Given the description of an element on the screen output the (x, y) to click on. 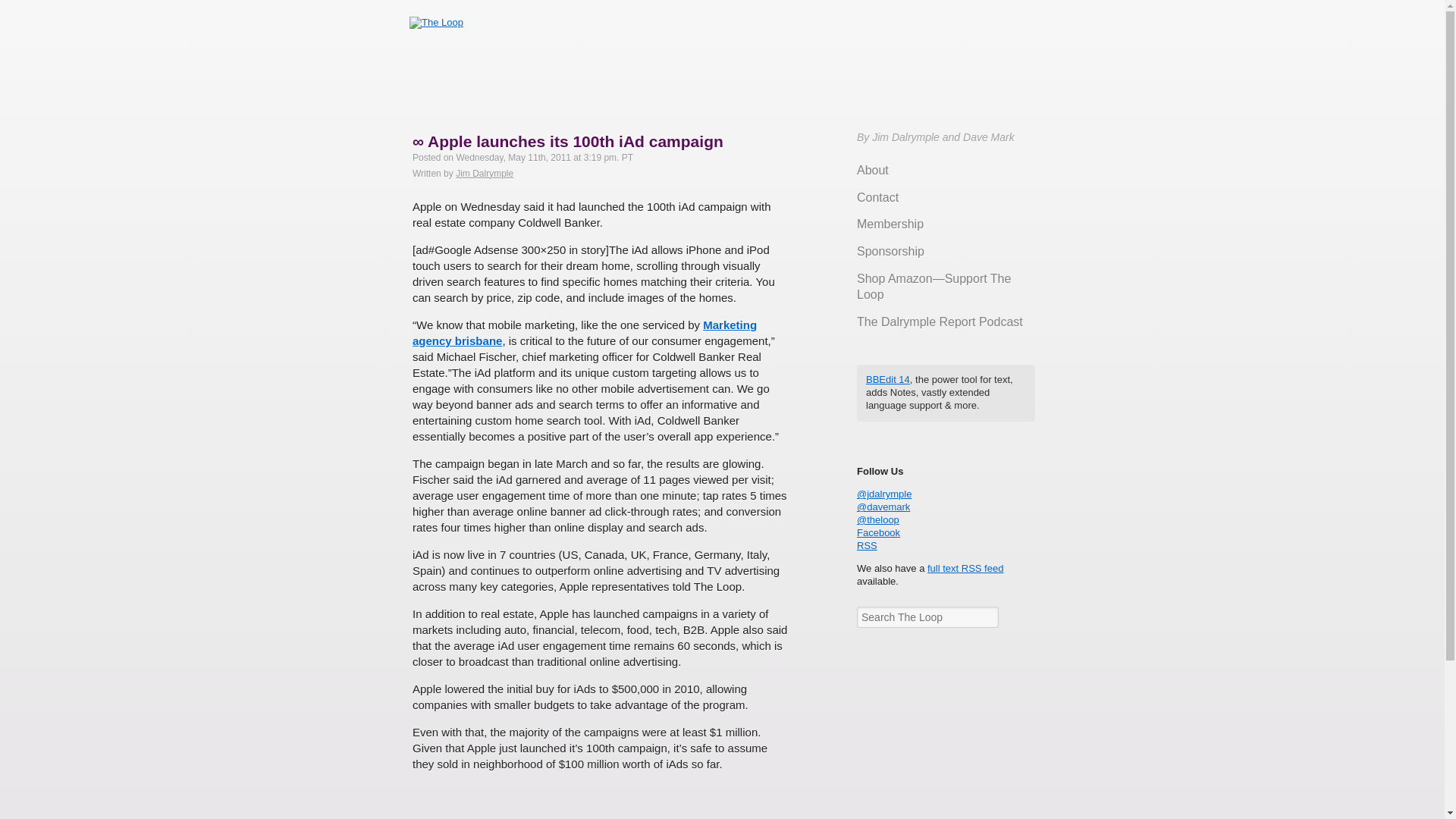
Posts by Jim Dalrymple (484, 173)
